Given the description of an element on the screen output the (x, y) to click on. 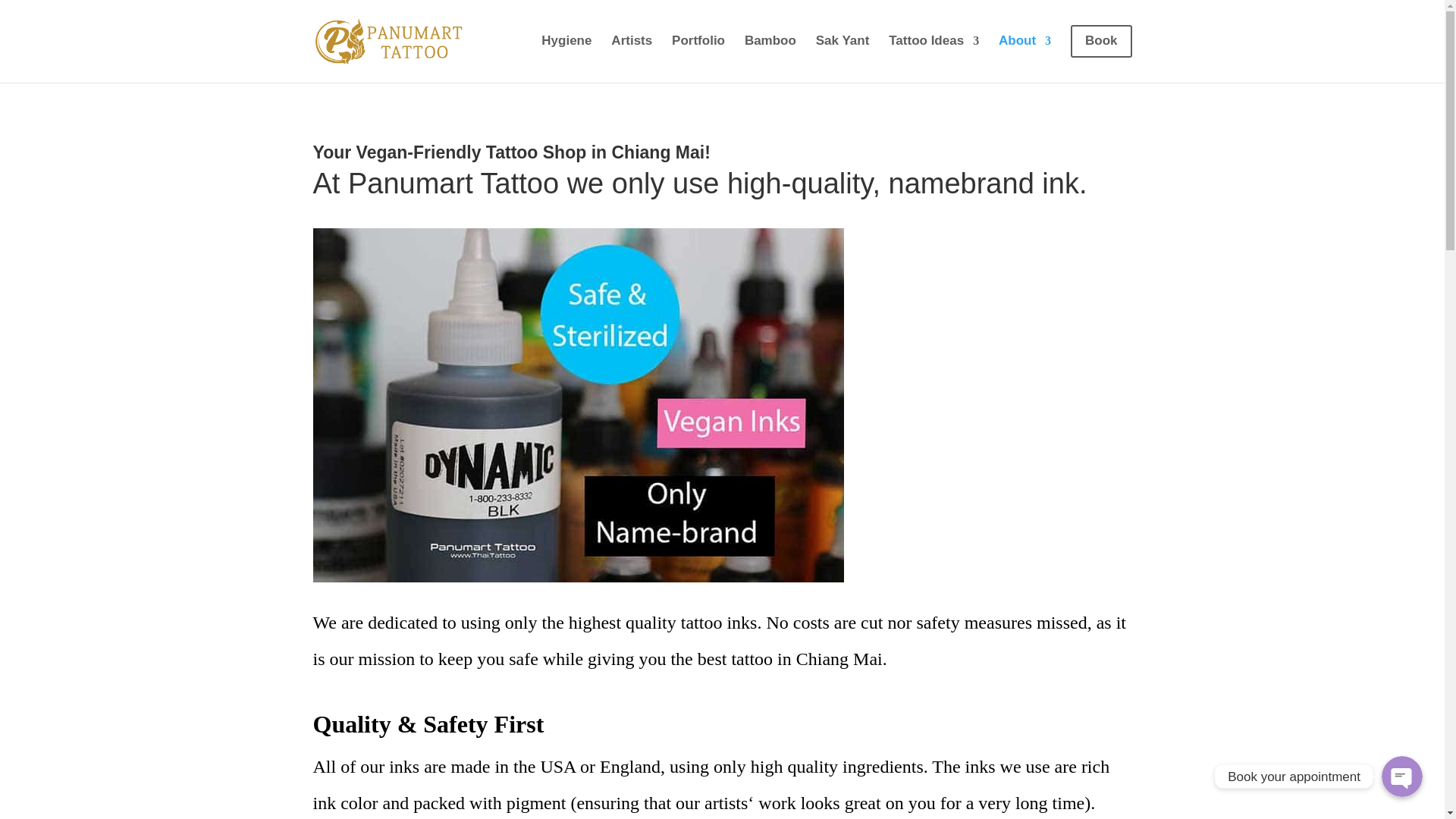
Bamboo (770, 53)
Hygiene (566, 53)
Tattoo Ideas (933, 53)
Sak Yant (842, 53)
Portfolio (698, 53)
Artists (631, 53)
